Given the description of an element on the screen output the (x, y) to click on. 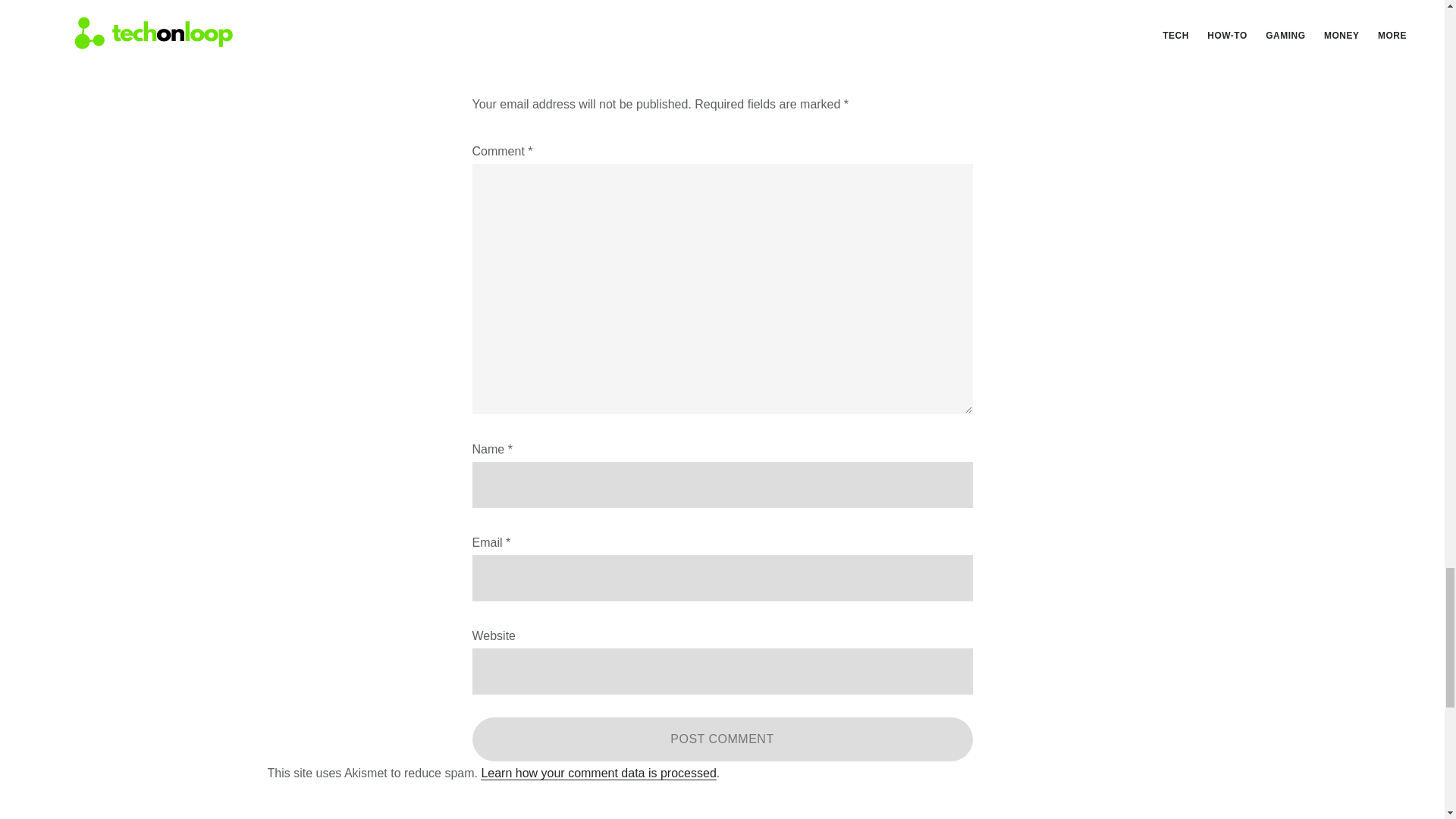
Post Comment (721, 739)
Post Comment (721, 739)
Learn how your comment data is processed (598, 773)
